Given the description of an element on the screen output the (x, y) to click on. 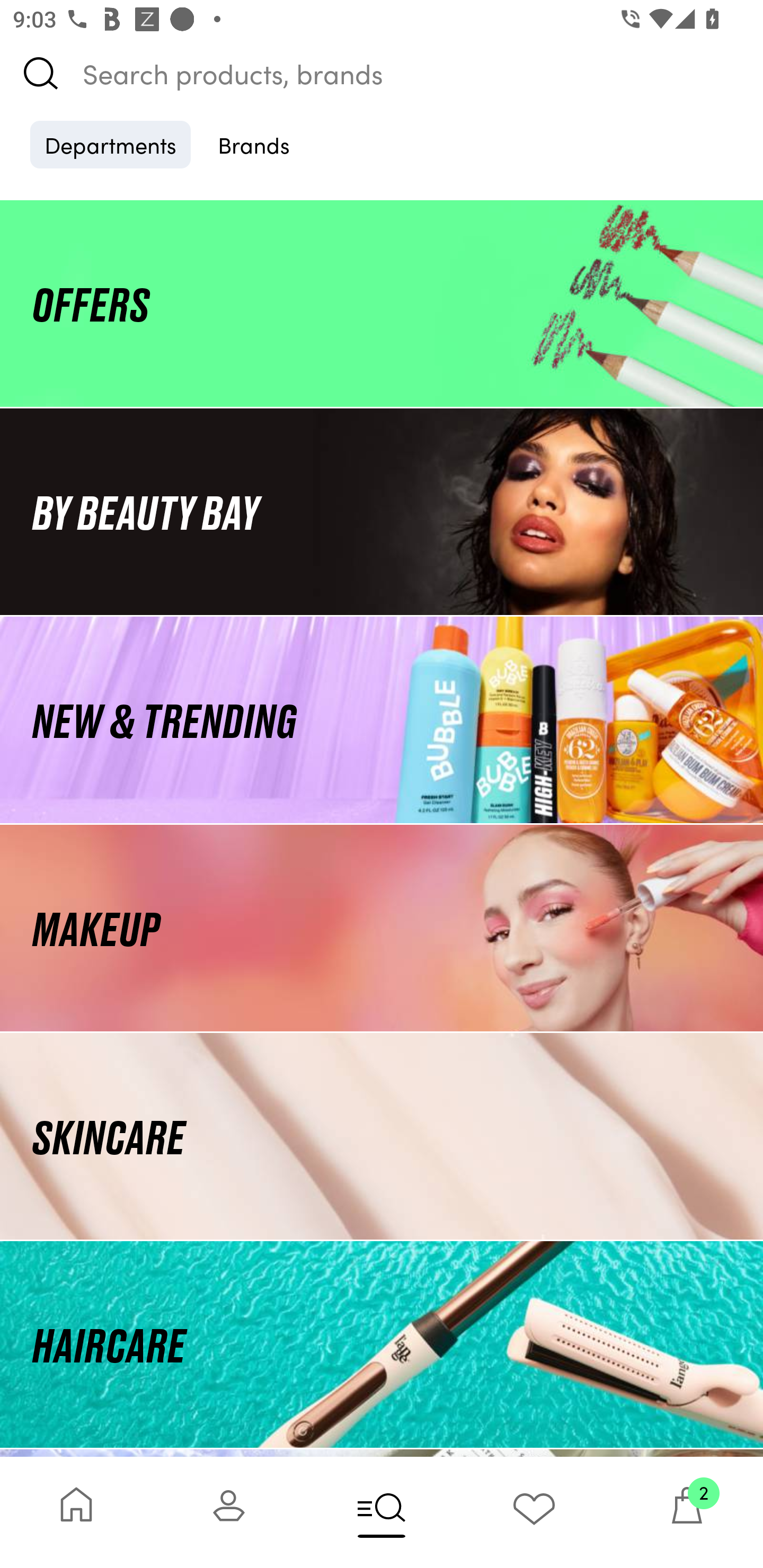
Search products, brands (381, 72)
Departments (110, 143)
Brands (253, 143)
OFFERS (381, 303)
BY BEAUTY BAY (381, 510)
NEW & TRENDING (381, 719)
MAKEUP (381, 927)
SKINCARE (381, 1136)
HAIRCARE (381, 1344)
2 (686, 1512)
